Given the description of an element on the screen output the (x, y) to click on. 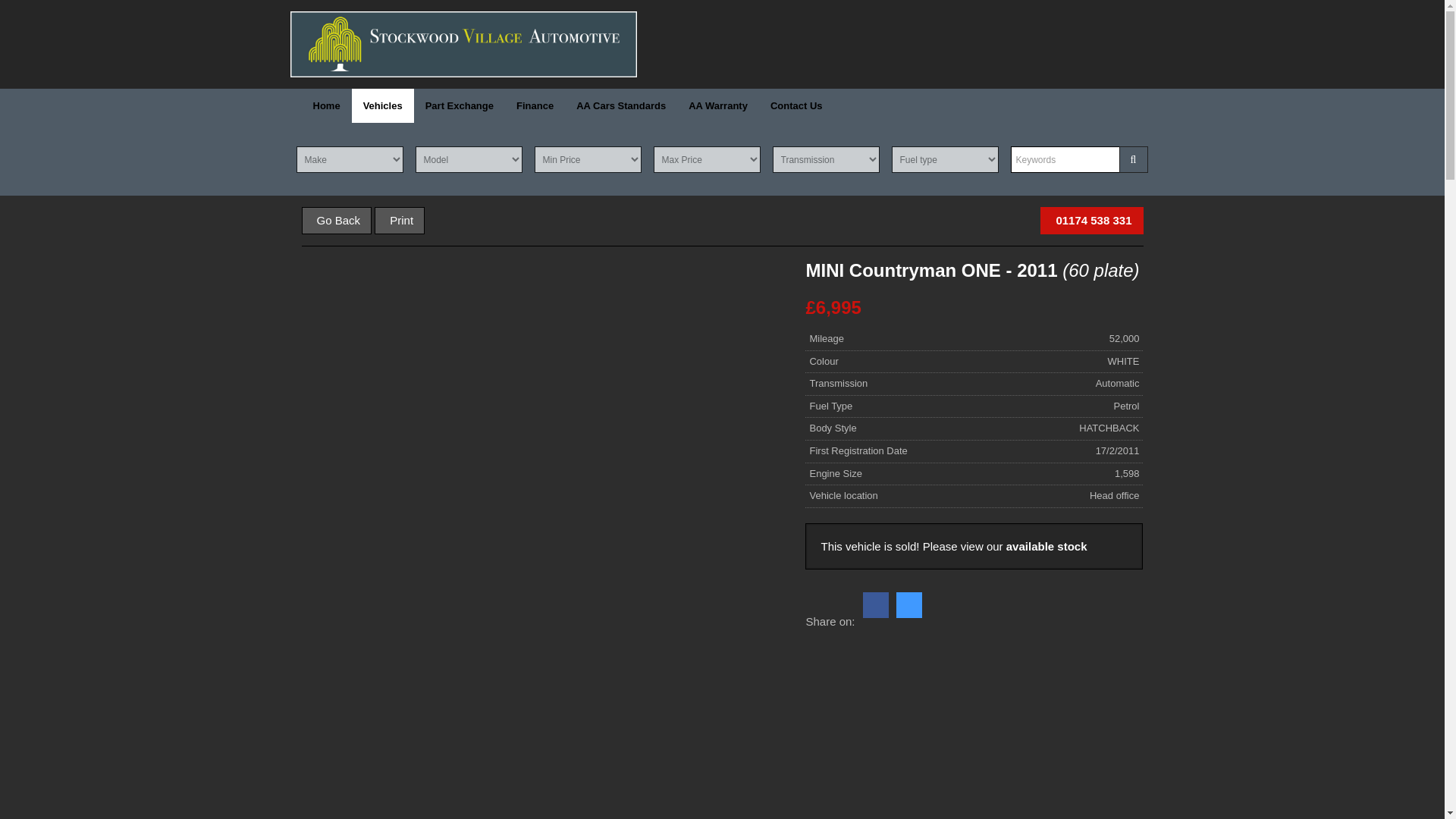
Contact Us (796, 105)
AA Cars Standards (620, 105)
Contact Us (796, 105)
Finance (534, 105)
AA Warranty (717, 105)
Vehicles (382, 105)
Vehicles (382, 105)
01174 538 331 (1091, 220)
Part Exchange (459, 105)
Finance (534, 105)
Part Exchange (459, 105)
Go Back (336, 220)
Stockwood Village Automotive (463, 43)
Print (399, 220)
Home (326, 105)
